Given the description of an element on the screen output the (x, y) to click on. 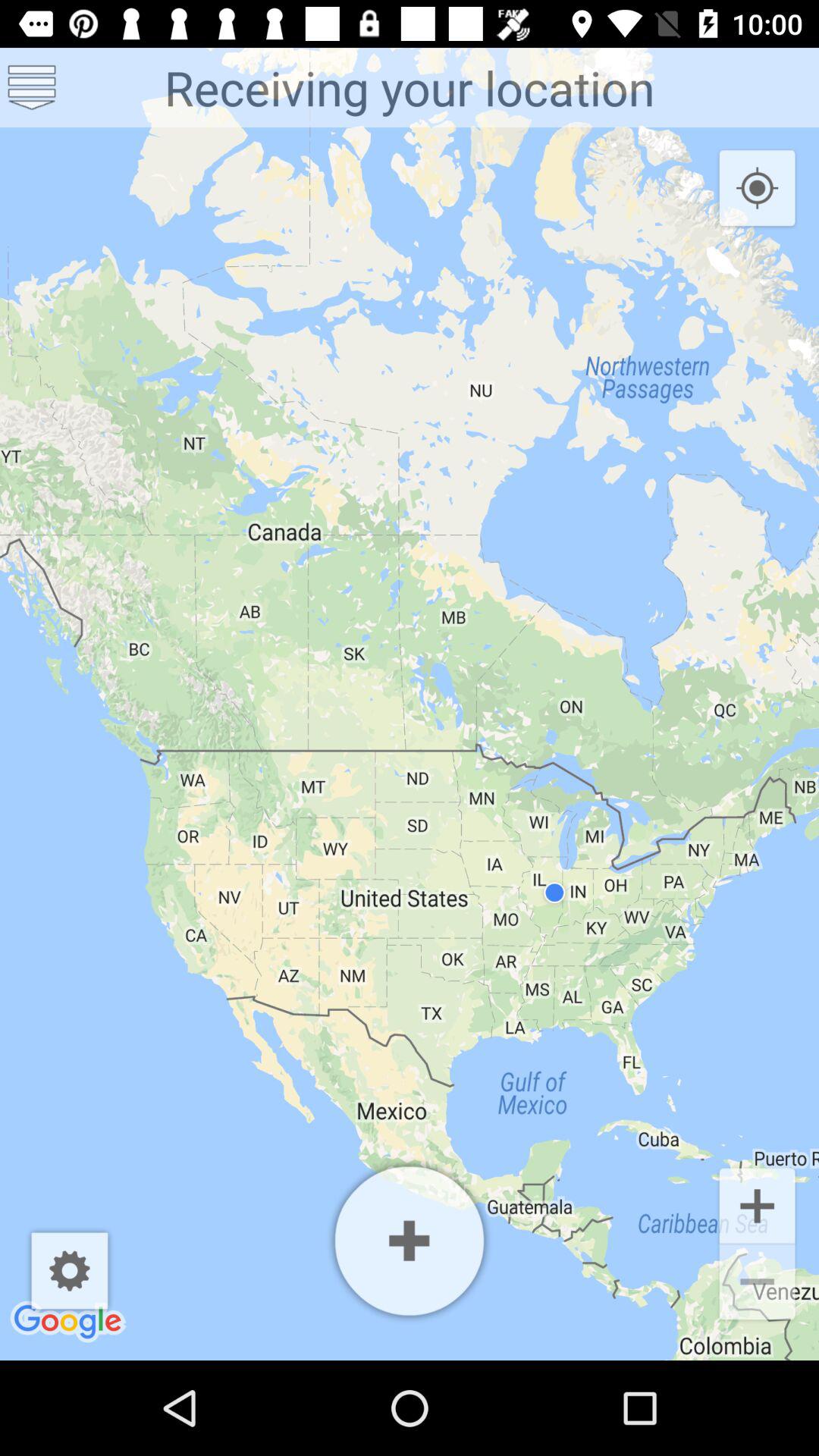
turn off the icon at the top left corner (31, 87)
